Given the description of an element on the screen output the (x, y) to click on. 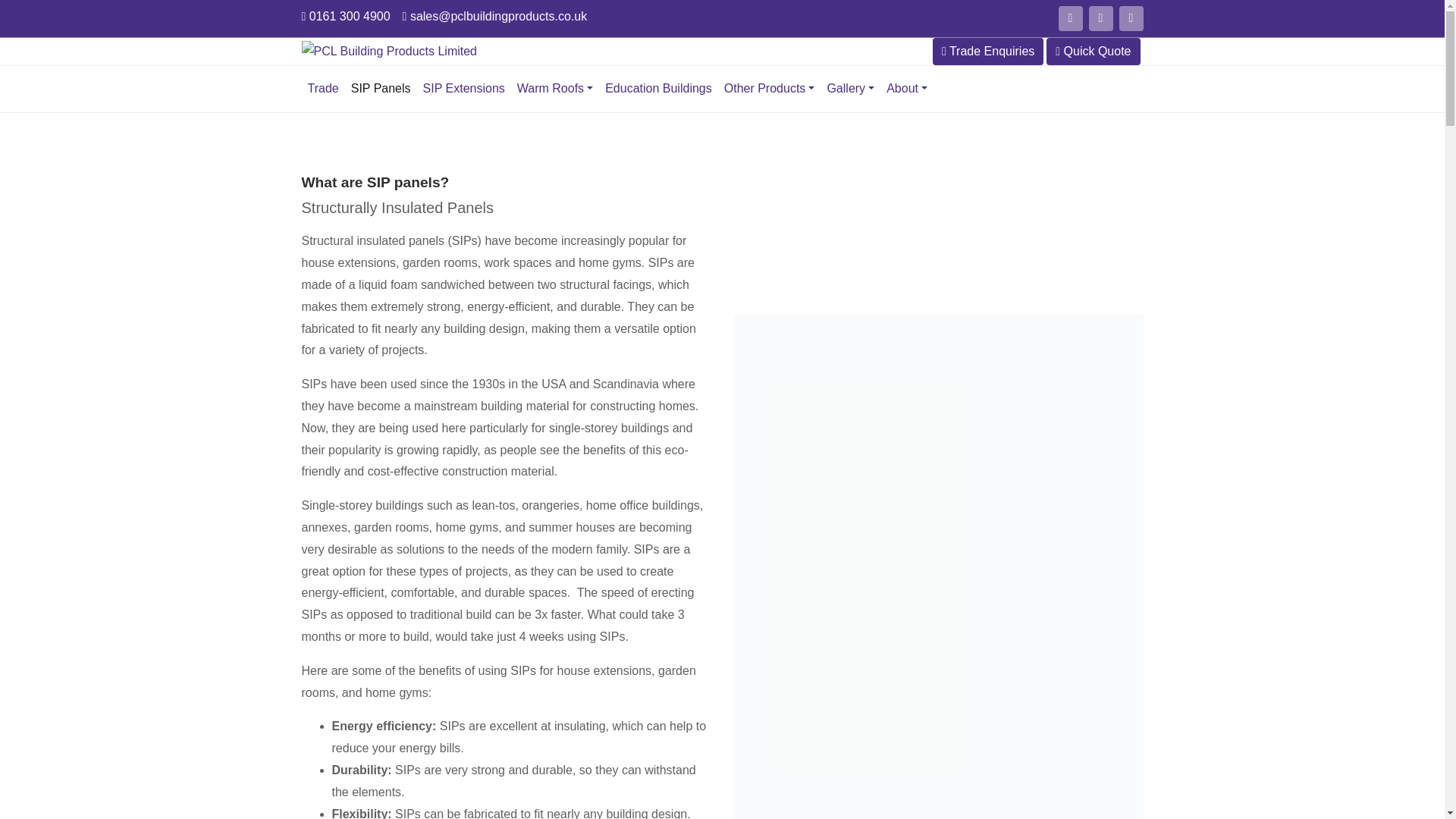
SIP Extensions (463, 89)
Find us on YouTube (1070, 18)
Trade (323, 89)
Trade (323, 89)
SIP Panels (380, 89)
Warm Roofs (554, 89)
Education Buildings (657, 89)
SIP Panels (380, 89)
Gallery (850, 89)
Find us on Facebook (1101, 18)
